Given the description of an element on the screen output the (x, y) to click on. 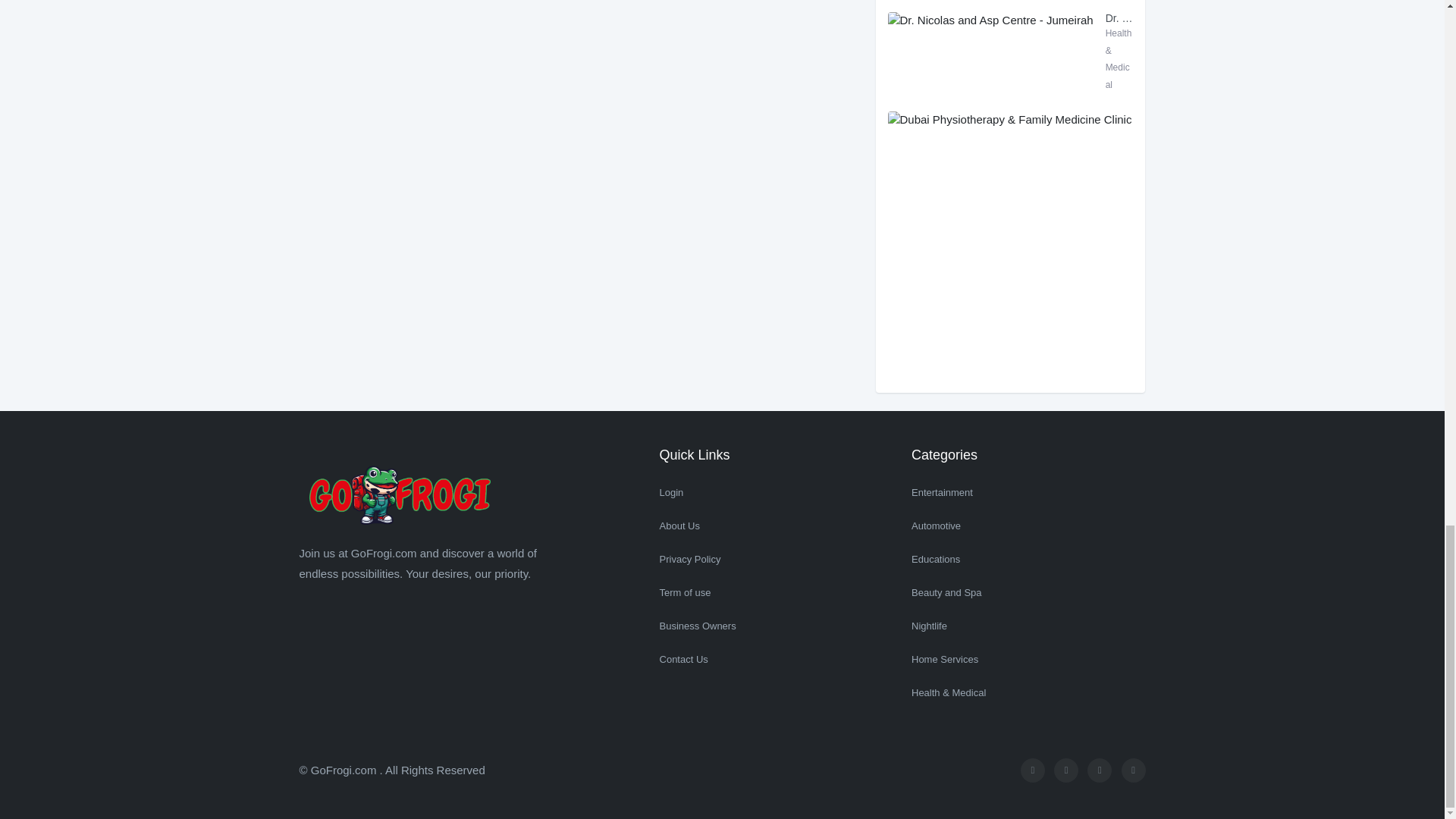
Dr. Nicolas and Asp Centre - Jumeirah (1119, 25)
About Us (776, 525)
Beauty and Spa (1027, 592)
Term of use (776, 592)
Educations (1027, 559)
Contact Us (776, 659)
Privacy Policy (776, 559)
Entertainment (1027, 492)
Automotive (1027, 525)
Login (776, 492)
